Given the description of an element on the screen output the (x, y) to click on. 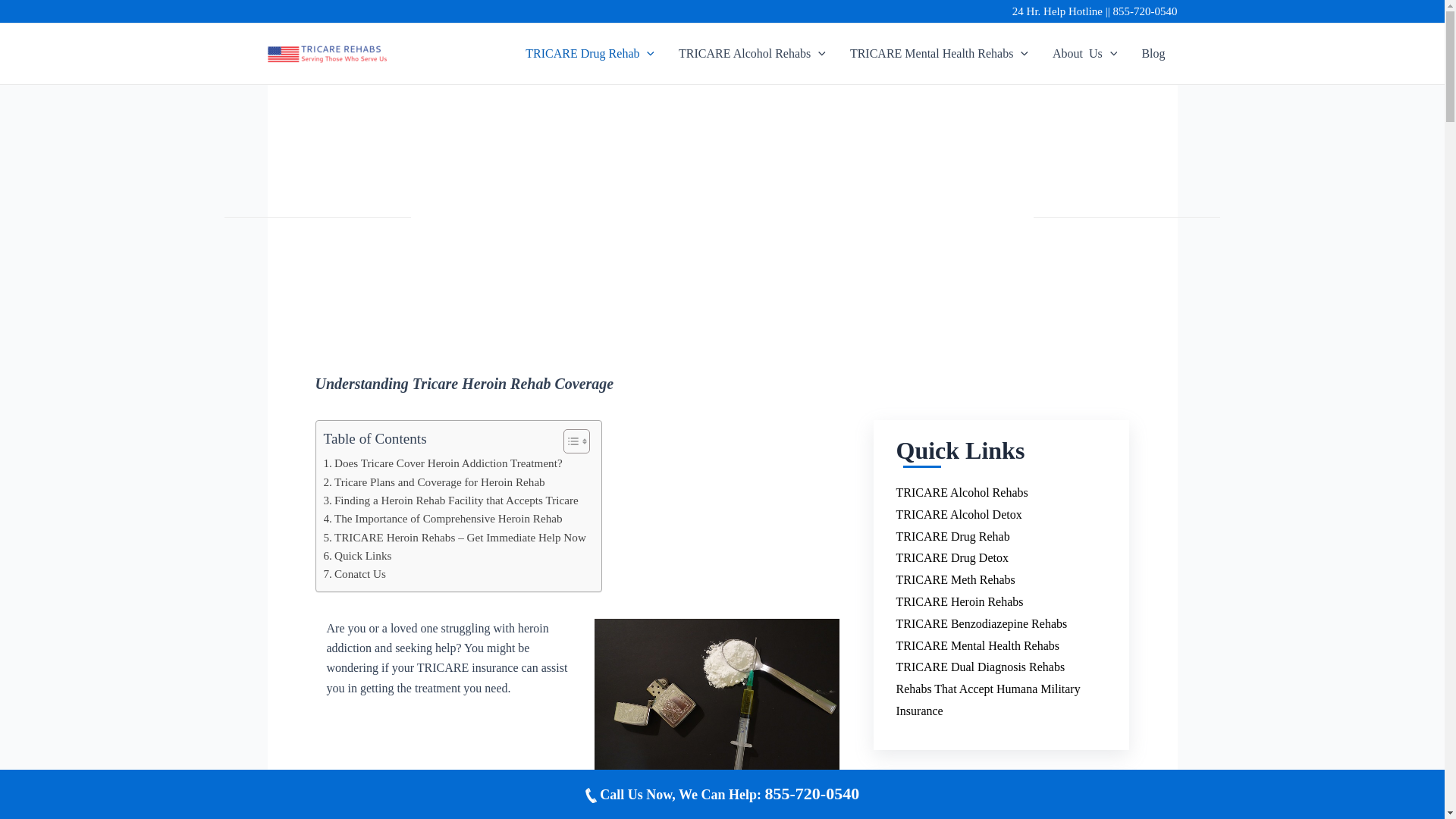
Finding a Heroin Rehab Facility that Accepts Tricare (450, 500)
855-720-0540 (1145, 10)
Does Tricare Cover Heroin Addiction Treatment? (442, 463)
TRICARE Alcohol Rehabs (752, 53)
Blog (1152, 53)
The Importance of Comprehensive Heroin Rehab (442, 518)
Understanding 1 (717, 700)
Quick Links (357, 556)
Tricare Plans and Coverage for Heroin Rehab (433, 482)
Conatct Us (354, 574)
About  Us (1085, 53)
TRICARE Mental Health Rehabs (939, 53)
TRICARE Drug Rehab (589, 53)
